Given the description of an element on the screen output the (x, y) to click on. 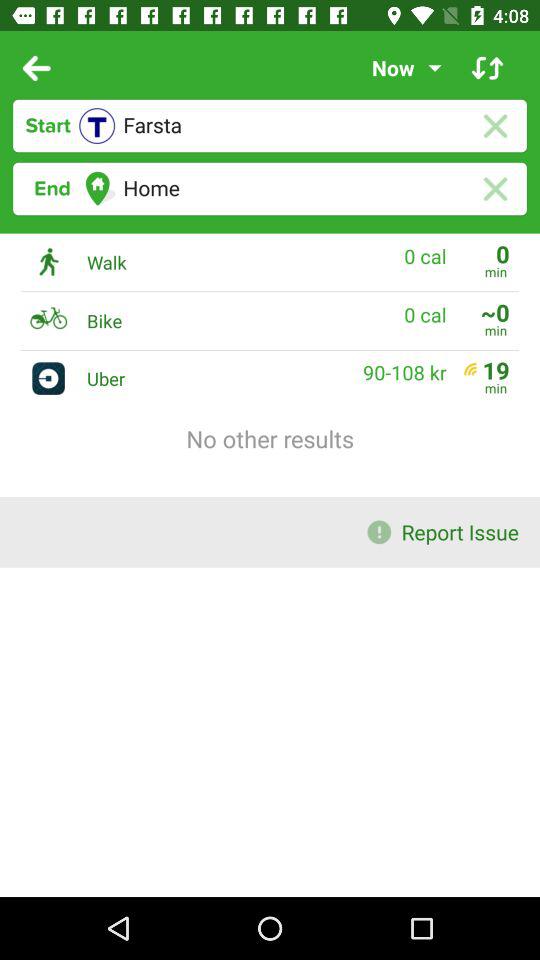
cancel text (494, 125)
